Given the description of an element on the screen output the (x, y) to click on. 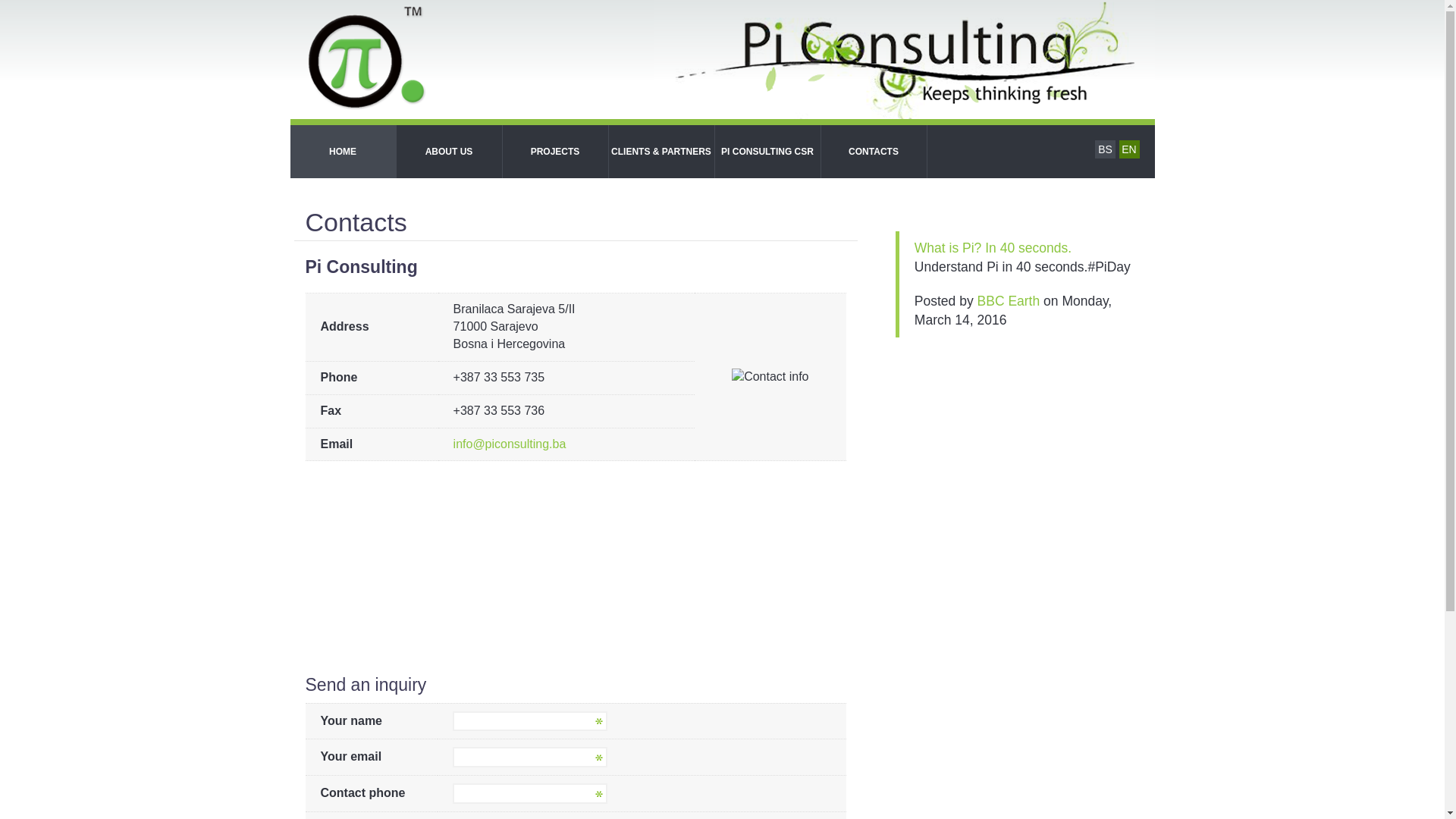
ABOUT US Element type: text (448, 151)
BBC Earth Element type: text (1008, 300)
PROJECTS Element type: text (555, 151)
CLIENTS & PARTNERS Element type: text (661, 151)
info@piconsulting.ba Element type: text (509, 443)
HOME Element type: text (342, 151)
CONTACTS Element type: text (873, 151)
EN Element type: text (1129, 149)
PI CONSULTING CSR Element type: text (767, 151)
What is Pi? In 40 seconds. Element type: text (992, 247)
BS Element type: text (1105, 149)
